Given the description of an element on the screen output the (x, y) to click on. 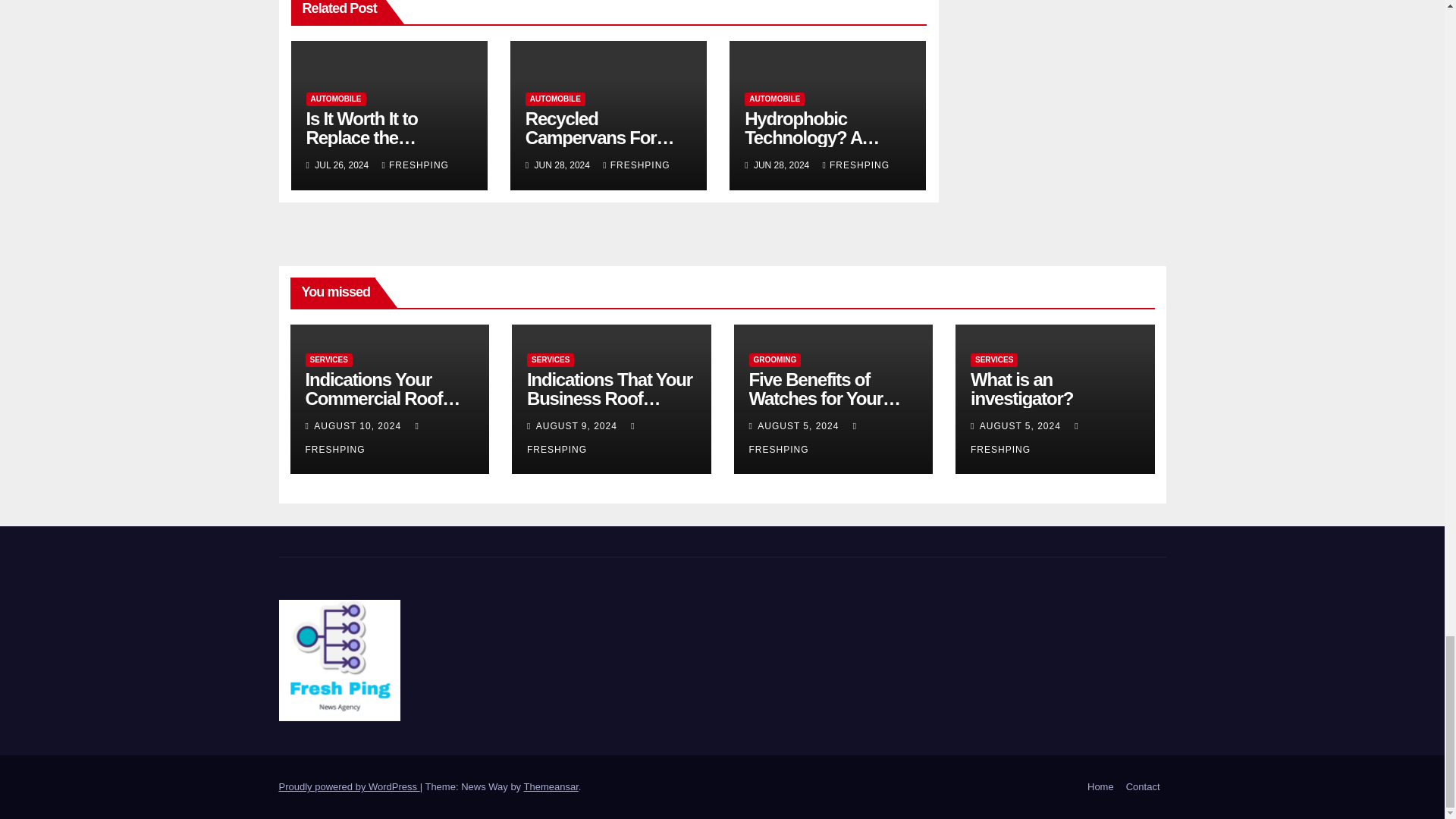
Permalink to: Hydrophobic Technology? A Comprehensive Guide (811, 146)
FRESHPING (855, 164)
Permalink to: What is an investigator? (1022, 388)
AUTOMOBILE (335, 99)
AUTOMOBILE (774, 99)
Permalink to: Five Benefits of Watches for Your Child (825, 398)
Is It Worth It to Replace the Transmission on Your Truck? (371, 146)
